Given the description of an element on the screen output the (x, y) to click on. 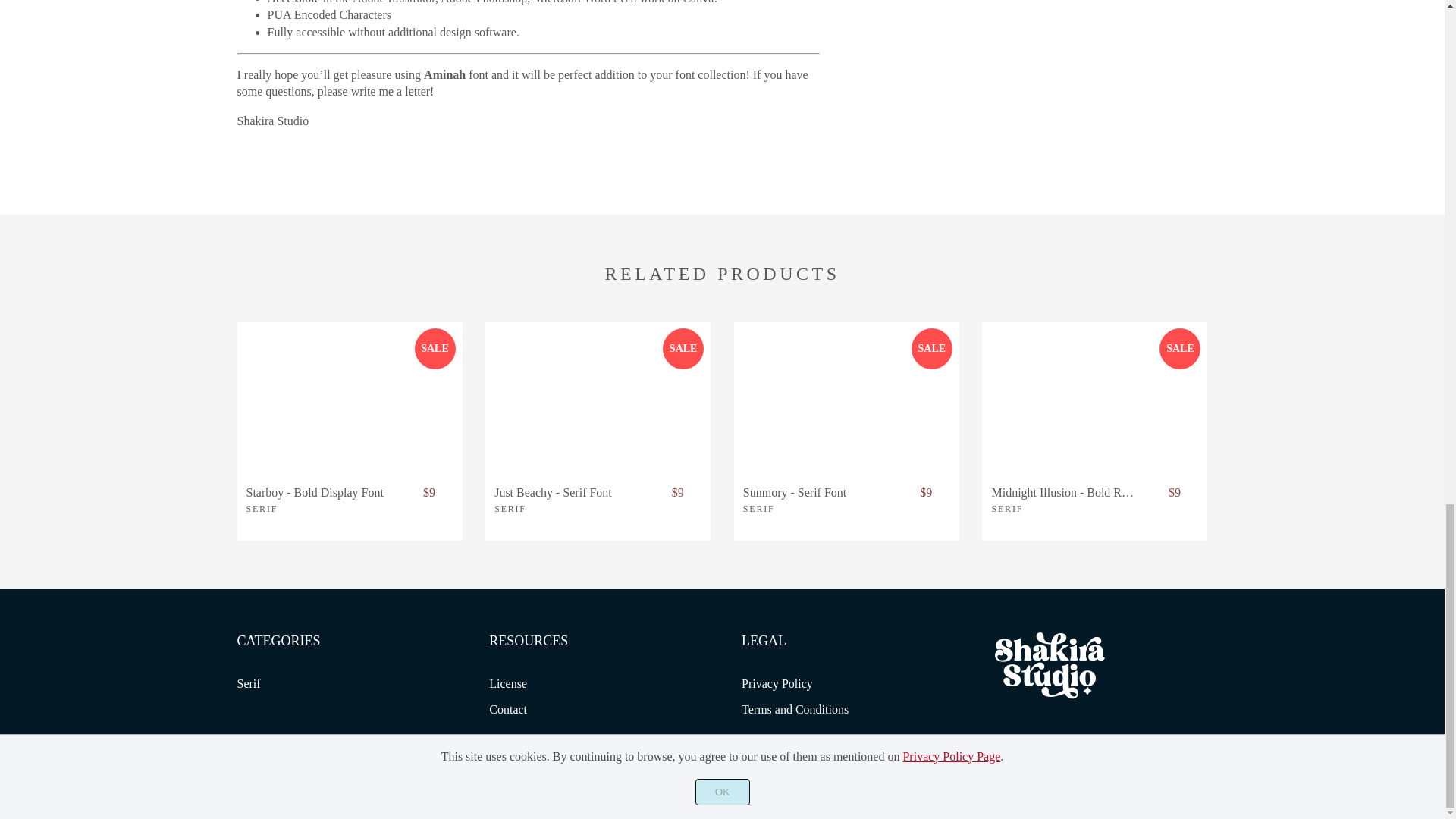
Midnight Illusion - Bold Retro Serif (1064, 492)
SERIF (1007, 508)
Sunmory - Serif Font (815, 492)
Starboy - Bold Display Font (318, 492)
View all products in Serif category (262, 508)
License (508, 683)
Just Beachy - Serif Font (597, 396)
SERIF (262, 508)
Just Beachy - Serif Font (567, 492)
SERIF (758, 508)
